Given the description of an element on the screen output the (x, y) to click on. 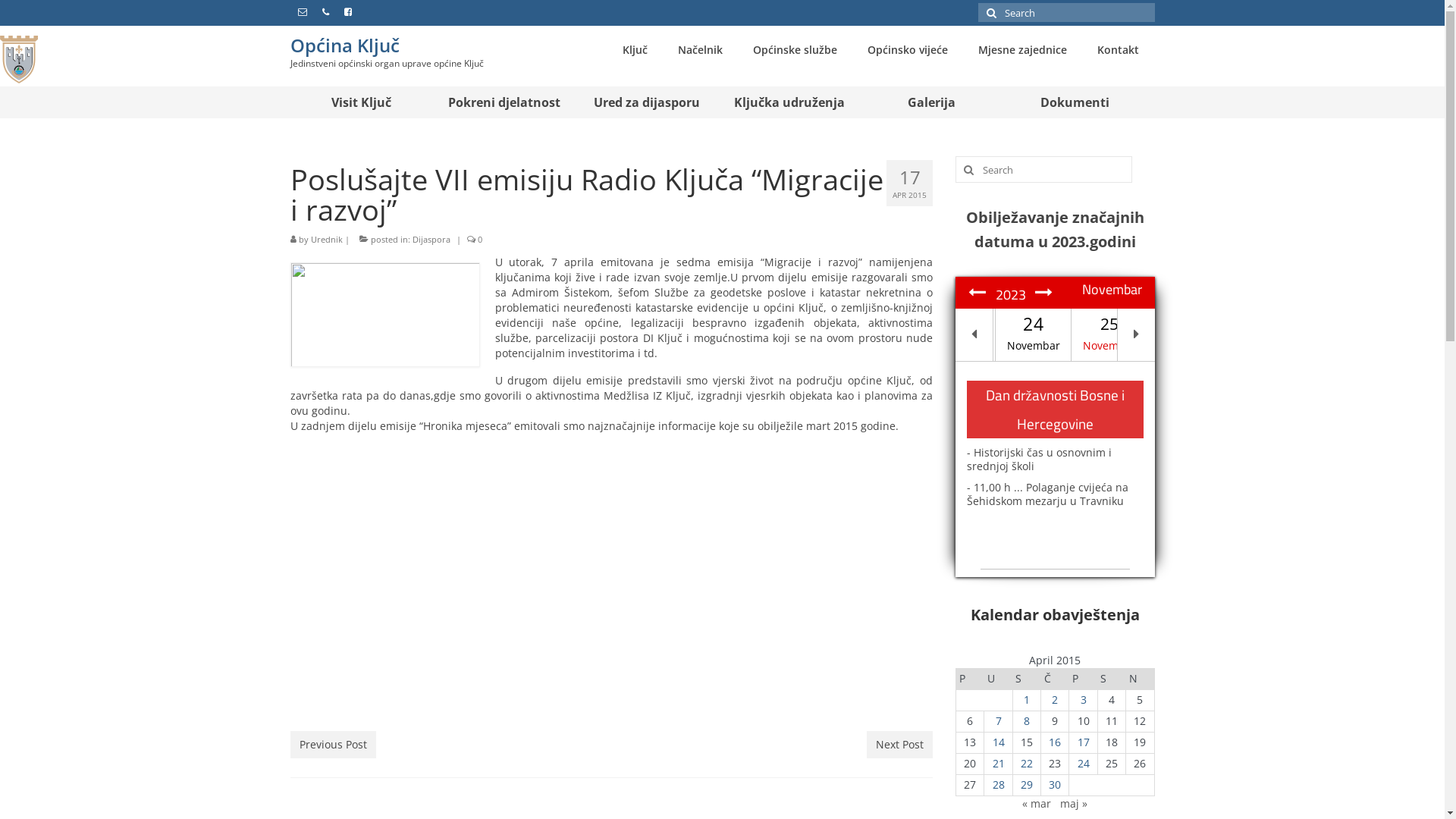
29 Element type: text (1026, 784)
Kontakt Element type: text (1118, 49)
16 Element type: text (1054, 741)
Dokumenti Element type: text (1074, 102)
Dijaspora Element type: text (431, 238)
Pokreni djelatnost Element type: text (504, 102)
7 Element type: text (998, 720)
3 Element type: text (1083, 699)
24 Element type: text (1083, 763)
24
Novembar Element type: text (1033, 334)
25
Novembar Element type: text (1109, 334)
17 Element type: text (1083, 741)
27 Element type: text (1185, 334)
Urednik Element type: text (326, 238)
22 Element type: text (1026, 763)
Mjesne zajednice Element type: text (1022, 49)
14 Element type: text (998, 741)
30 Element type: text (1054, 784)
Next Post Element type: text (899, 744)
8 Element type: text (1026, 720)
28 Element type: text (998, 784)
Ured za dijasporu Element type: text (646, 102)
Previous Post Element type: text (332, 744)
21 Element type: text (998, 763)
23
Novembar Element type: text (957, 334)
1 Element type: text (1026, 699)
2 Element type: text (1054, 699)
Galerija Element type: text (931, 102)
